Given the description of an element on the screen output the (x, y) to click on. 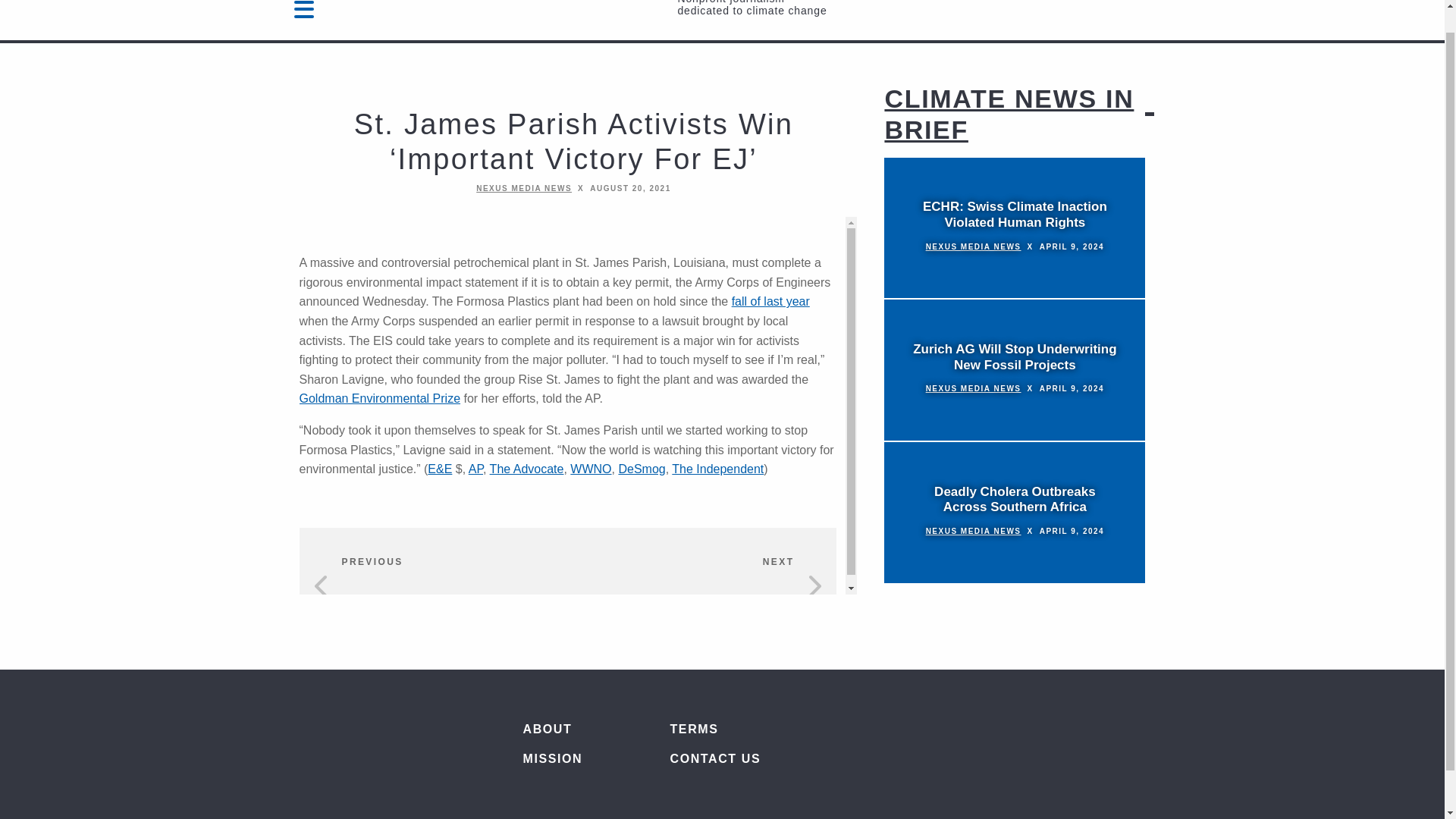
CONTACT US (759, 758)
DeSmog (641, 468)
NEXUS MEDIA NEWS (974, 388)
WWNO (590, 468)
NEXUS MEDIA NEWS (974, 246)
The Advocate (526, 468)
TERMS (759, 728)
The Independent (716, 468)
fall of last year (770, 300)
MISSION (575, 758)
CLIMATE NEWS IN BRIEF (1008, 114)
NEXUS MEDIA NEWS (974, 531)
ABOUT (575, 728)
AP (475, 468)
Goldman Environmental Prize (379, 398)
